Given the description of an element on the screen output the (x, y) to click on. 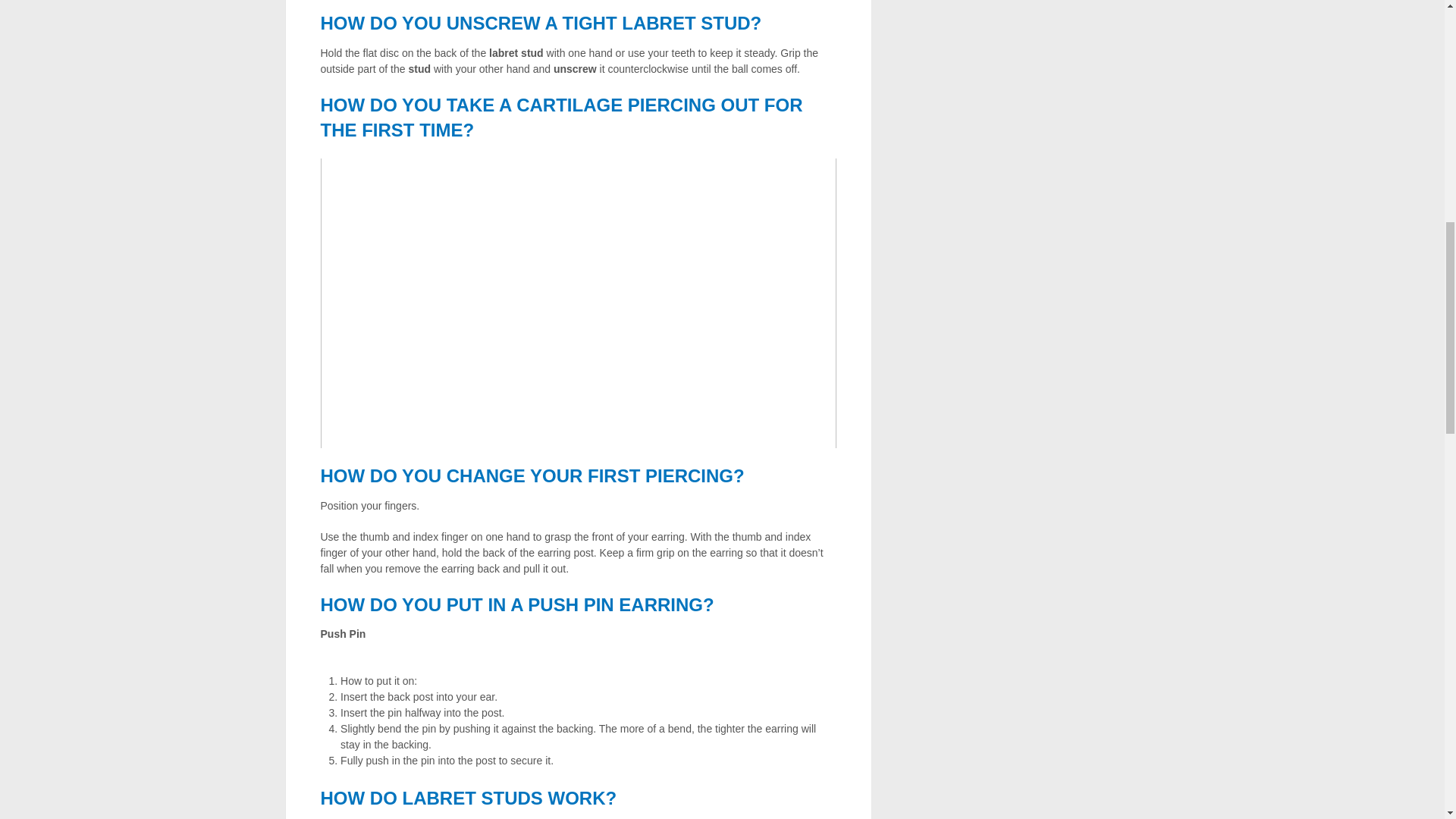
How do you unscrew a tight labret stud? (540, 23)
HOW DO YOU PUT IN A PUSH PIN EARRING? (516, 604)
How do you take a cartilage piercing out for the first time? (561, 117)
HOW DO YOU CHANGE YOUR FIRST PIERCING? (532, 476)
How do you change your first piercing? (532, 476)
HOW DO LABRET STUDS WORK? (467, 797)
HOW DO YOU TAKE A CARTILAGE PIERCING OUT FOR THE FIRST TIME? (561, 117)
How do you put in a push pin earring? (516, 604)
HOW DO YOU UNSCREW A TIGHT LABRET STUD? (540, 23)
How do labret studs work? (467, 797)
